Given the description of an element on the screen output the (x, y) to click on. 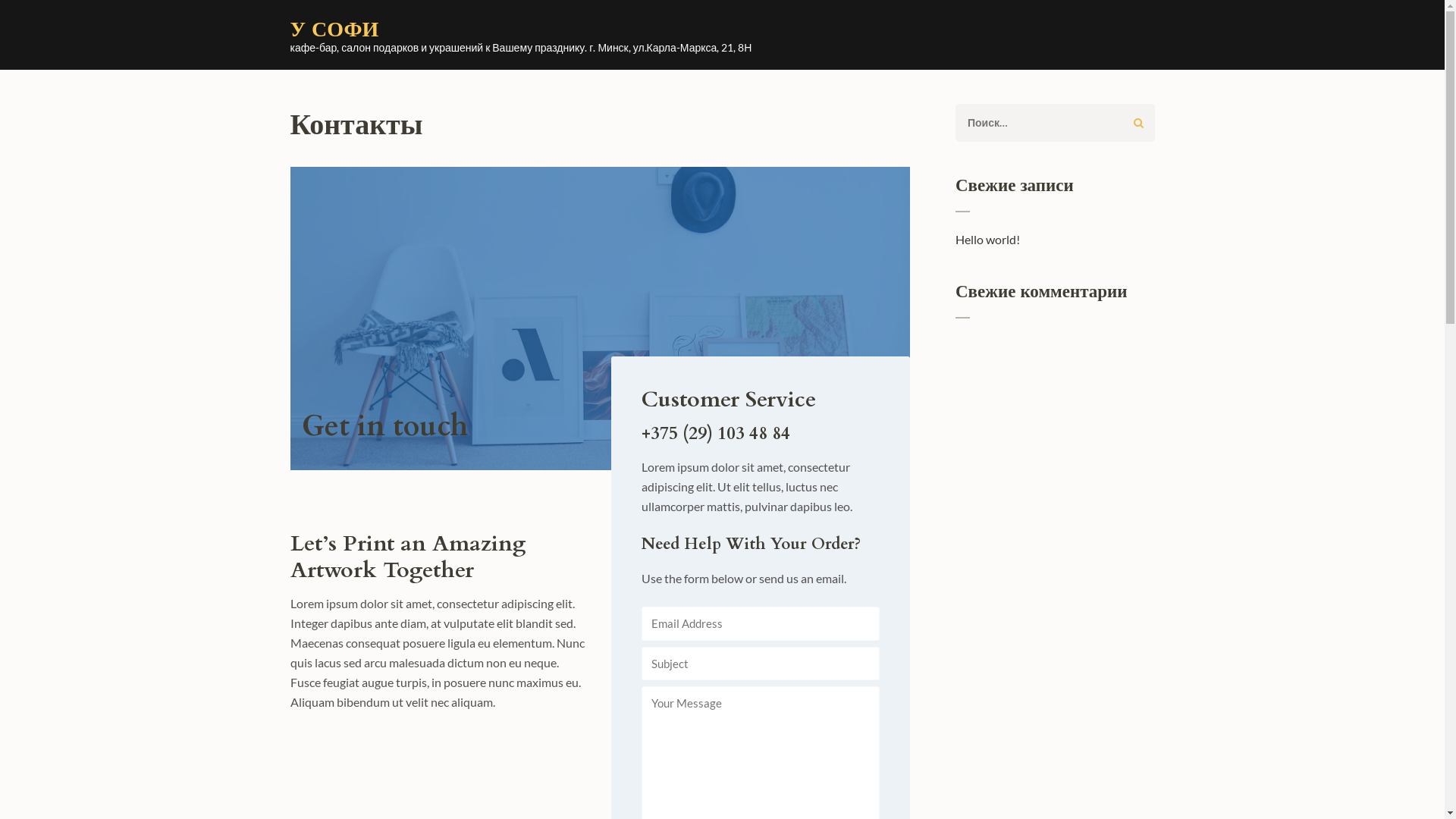
Hello world! Element type: text (987, 239)
